Given the description of an element on the screen output the (x, y) to click on. 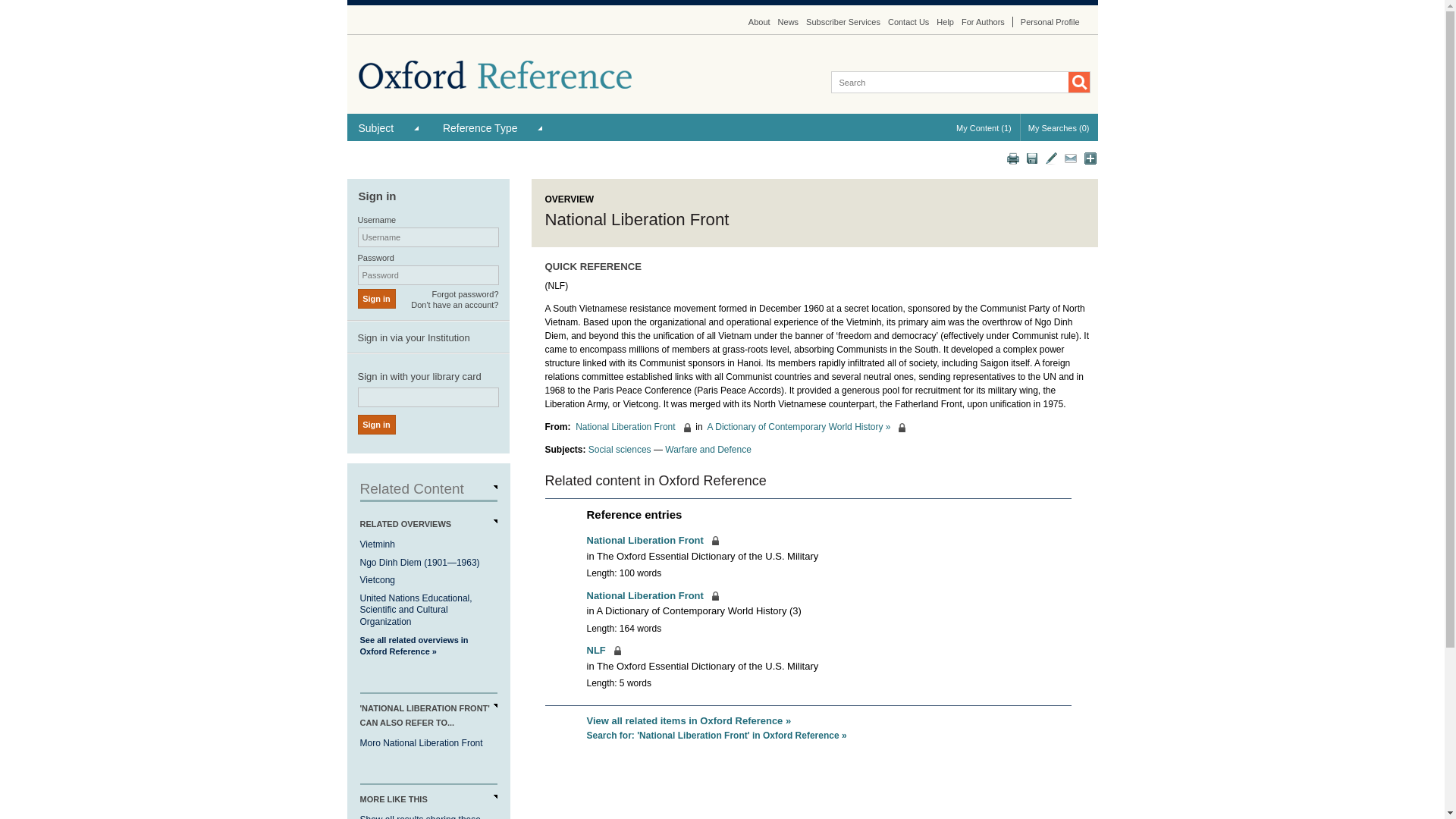
Subject    (388, 126)
Search (1078, 82)
Subscriber Services (843, 21)
locked (652, 595)
Cite (1051, 158)
Forgot password? (463, 293)
locked (632, 426)
News (788, 21)
Sign in (377, 298)
Help (944, 21)
